Given the description of an element on the screen output the (x, y) to click on. 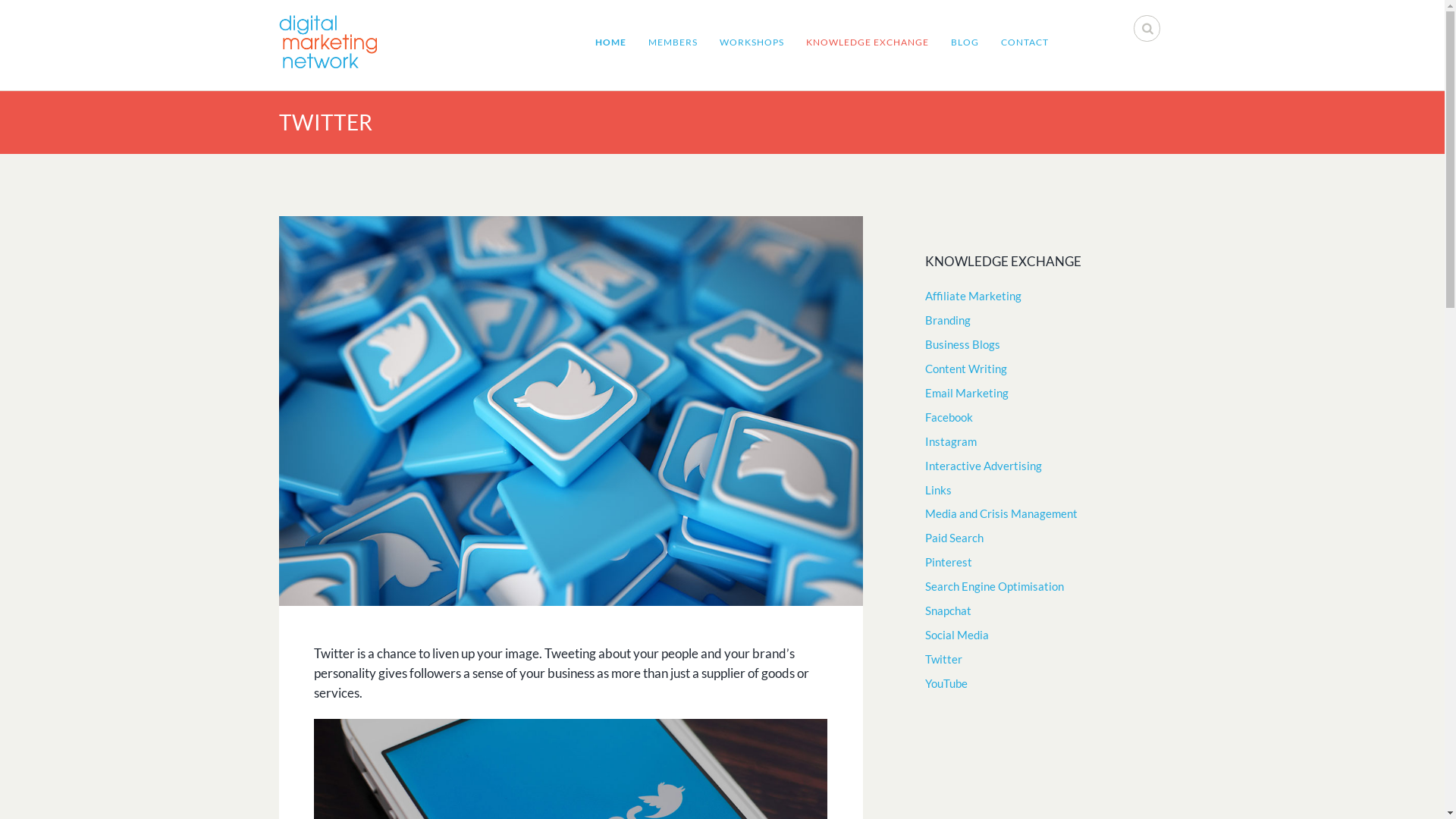
Pinterest Element type: text (948, 561)
KNOWLEDGE EXCHANGE Element type: text (867, 42)
Facebook Element type: text (948, 417)
Open search Element type: hover (1148, 29)
YouTube Element type: text (946, 683)
Email Marketing Element type: text (966, 392)
Affiliate Marketing Element type: text (973, 295)
Interactive Advertising Element type: text (983, 465)
WORKSHOPS Element type: text (751, 42)
Snapchat Element type: text (948, 610)
Branding Element type: text (947, 319)
Media and Crisis Management Element type: text (1001, 513)
Content Writing Element type: text (966, 368)
Links Element type: text (938, 489)
Social Media Element type: text (956, 634)
Instagram Element type: text (950, 441)
BLOG Element type: text (964, 42)
Business Blogs Element type: text (962, 344)
CONTACT Element type: text (1024, 42)
HOME Element type: text (610, 42)
Search Engine Optimisation Element type: text (994, 586)
Twitter Element type: hover (570, 410)
Paid Search Element type: text (954, 537)
MEMBERS Element type: text (672, 42)
Twitter Element type: text (943, 658)
